Given the description of an element on the screen output the (x, y) to click on. 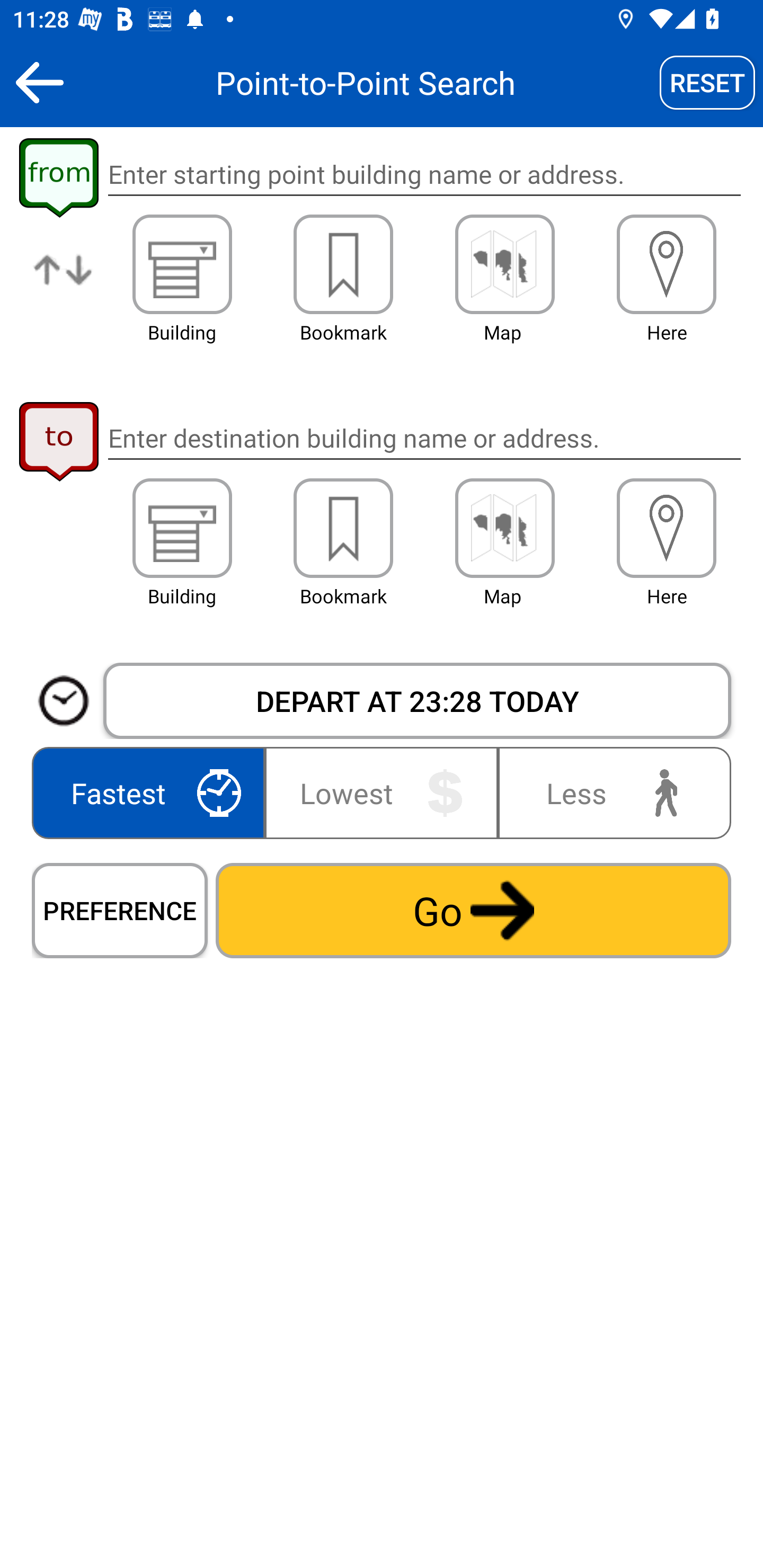
Back (39, 82)
RESET Reset (707, 81)
Enter starting point building name or address. (423, 174)
Building (181, 263)
Bookmarks (342, 263)
Select location on map (504, 263)
Here (666, 263)
Swap origin and destination (63, 284)
Enter destination building name or address. (423, 437)
Building (181, 528)
Bookmarks (342, 528)
Select location on map (504, 528)
Here (666, 528)
Lowest (381, 792)
Fastest selected (151, 792)
Less (610, 792)
PREFERENCE Preference (119, 910)
Go (472, 910)
